Given the description of an element on the screen output the (x, y) to click on. 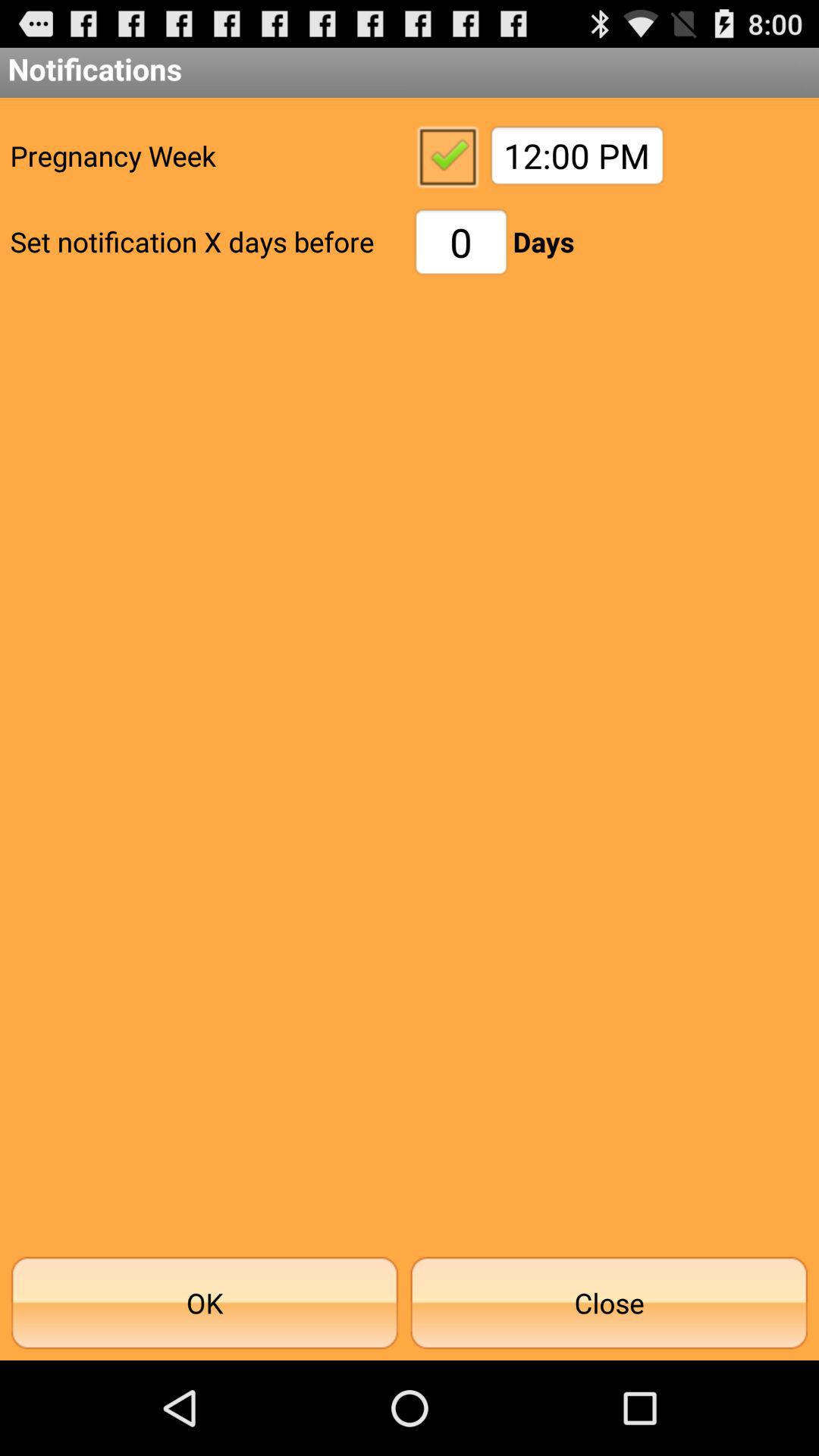
tap 12:00 pm app (577, 155)
